Given the description of an element on the screen output the (x, y) to click on. 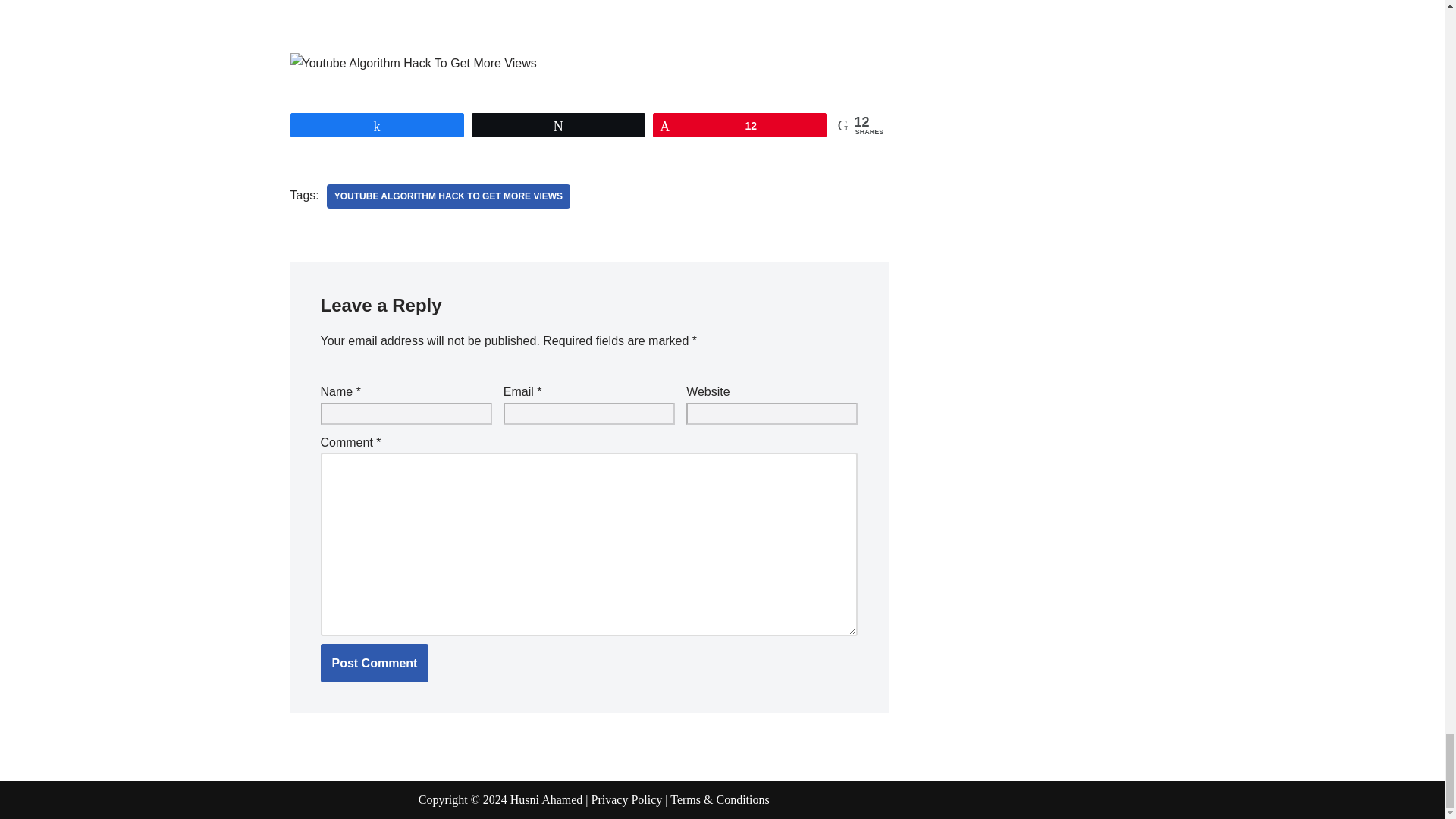
YOUTUBE ALGORITHM HACK TO GET MORE VIEWS (448, 196)
Youtube Algorithm Hack To Get More Views (448, 196)
Post Comment (374, 663)
Post Comment (374, 663)
12 (739, 124)
